Given the description of an element on the screen output the (x, y) to click on. 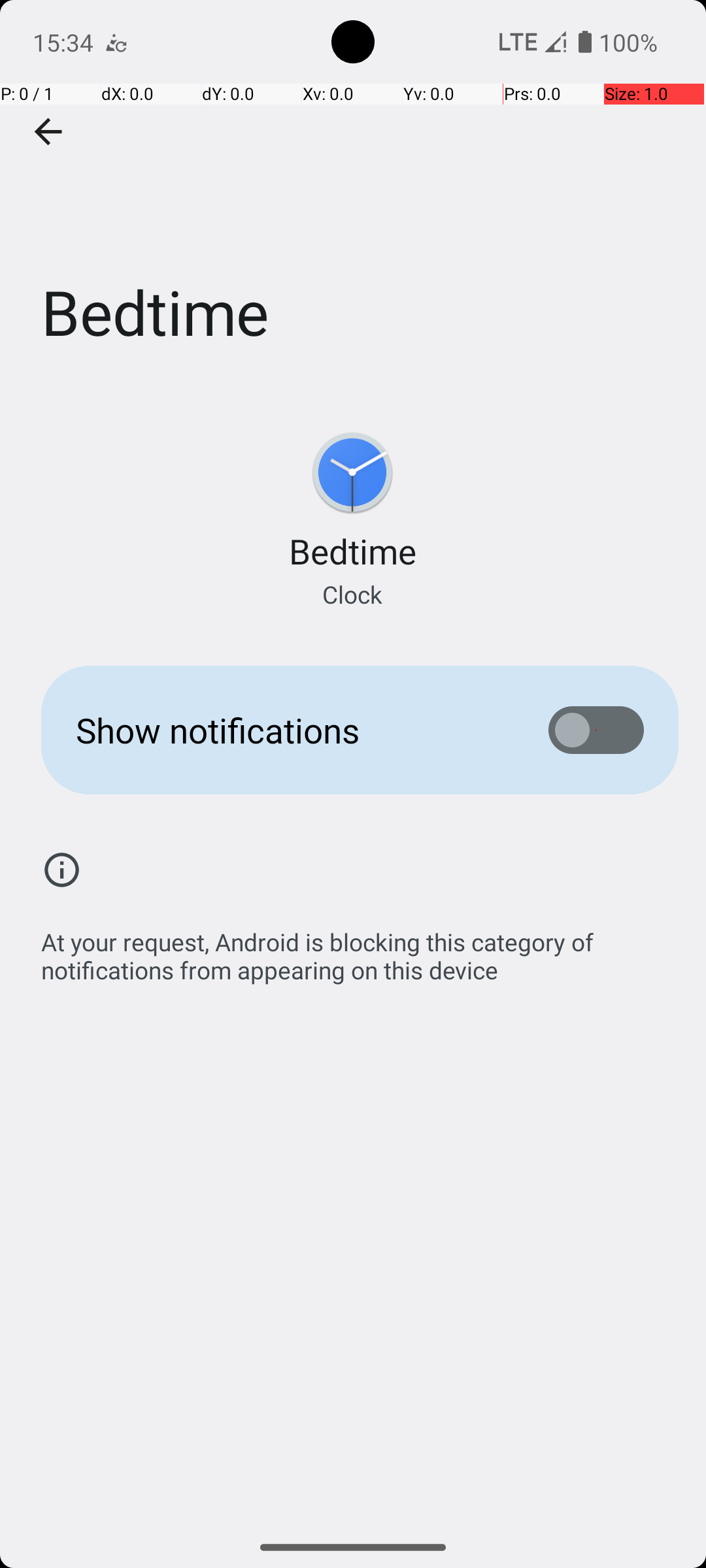
Show notifications Element type: android.widget.TextView (291, 729)
At your request, Android is blocking this category of notifications from appearing on this device Element type: android.widget.TextView (359, 948)
